Given the description of an element on the screen output the (x, y) to click on. 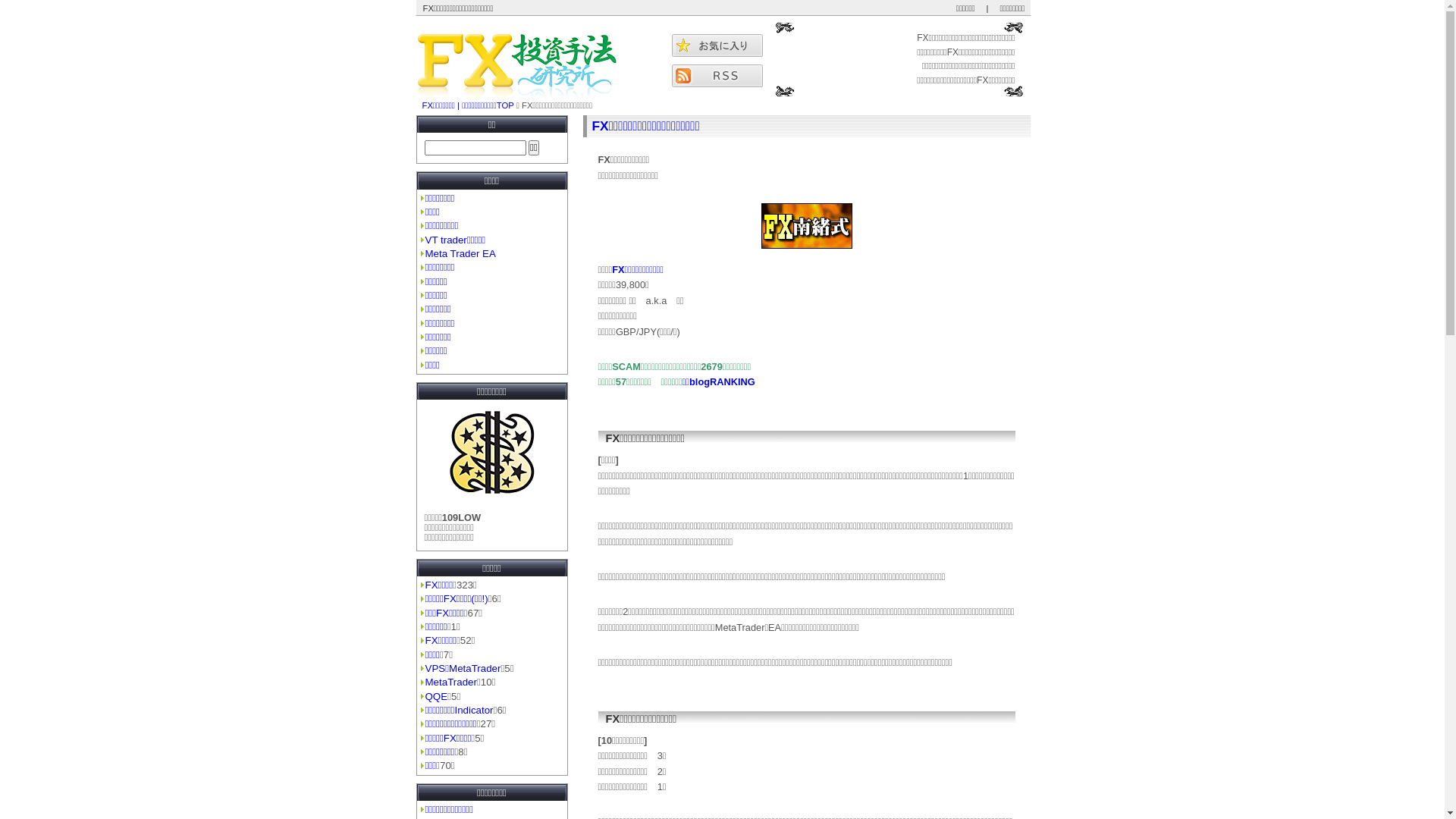
Meta Trader EA Element type: text (459, 253)
QQE Element type: text (435, 696)
MetaTrader Element type: text (450, 681)
